Given the description of an element on the screen output the (x, y) to click on. 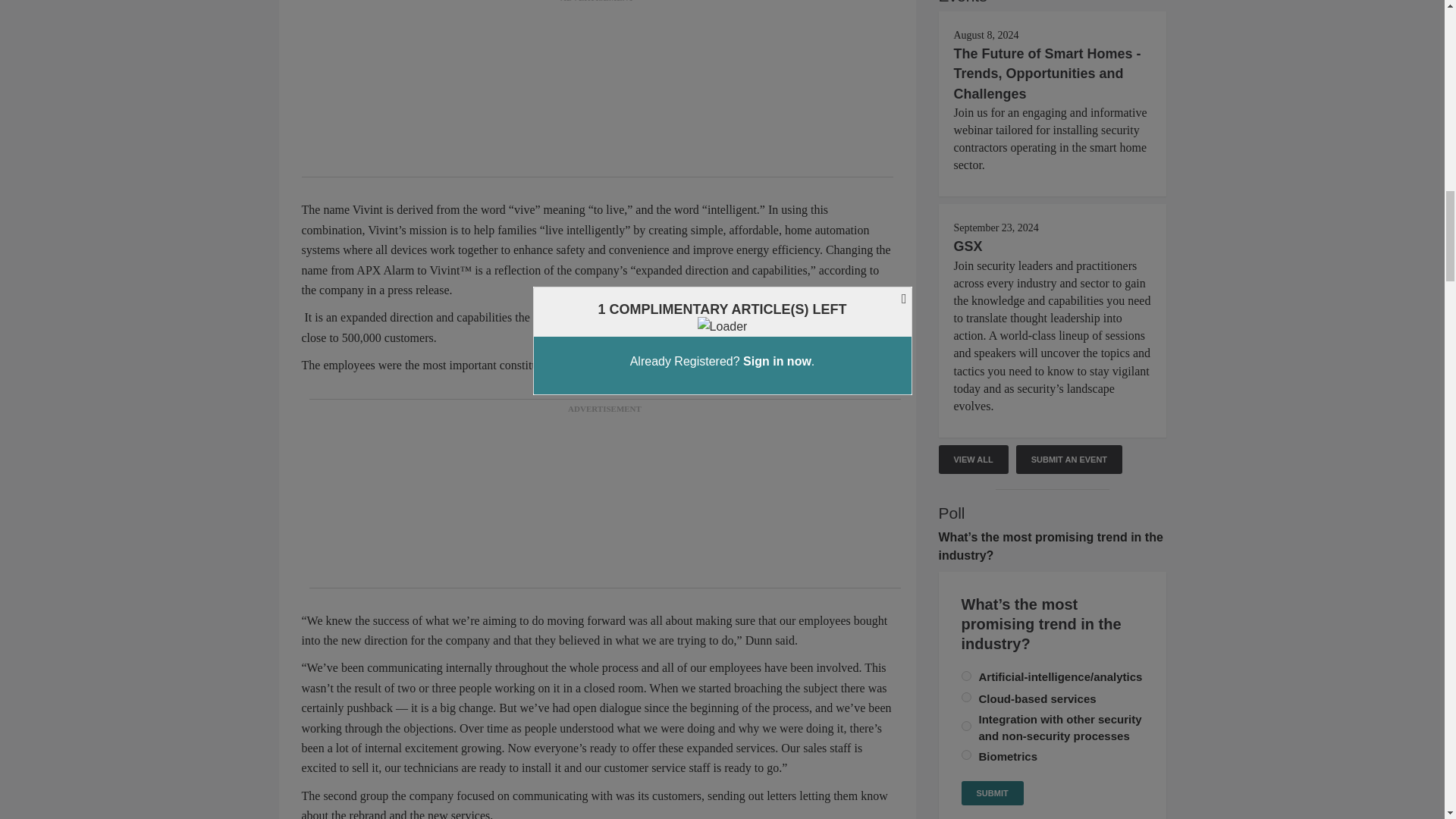
492 (965, 755)
GSX (967, 246)
490 (965, 696)
491 (965, 726)
489 (965, 675)
Submit (991, 793)
